Given the description of an element on the screen output the (x, y) to click on. 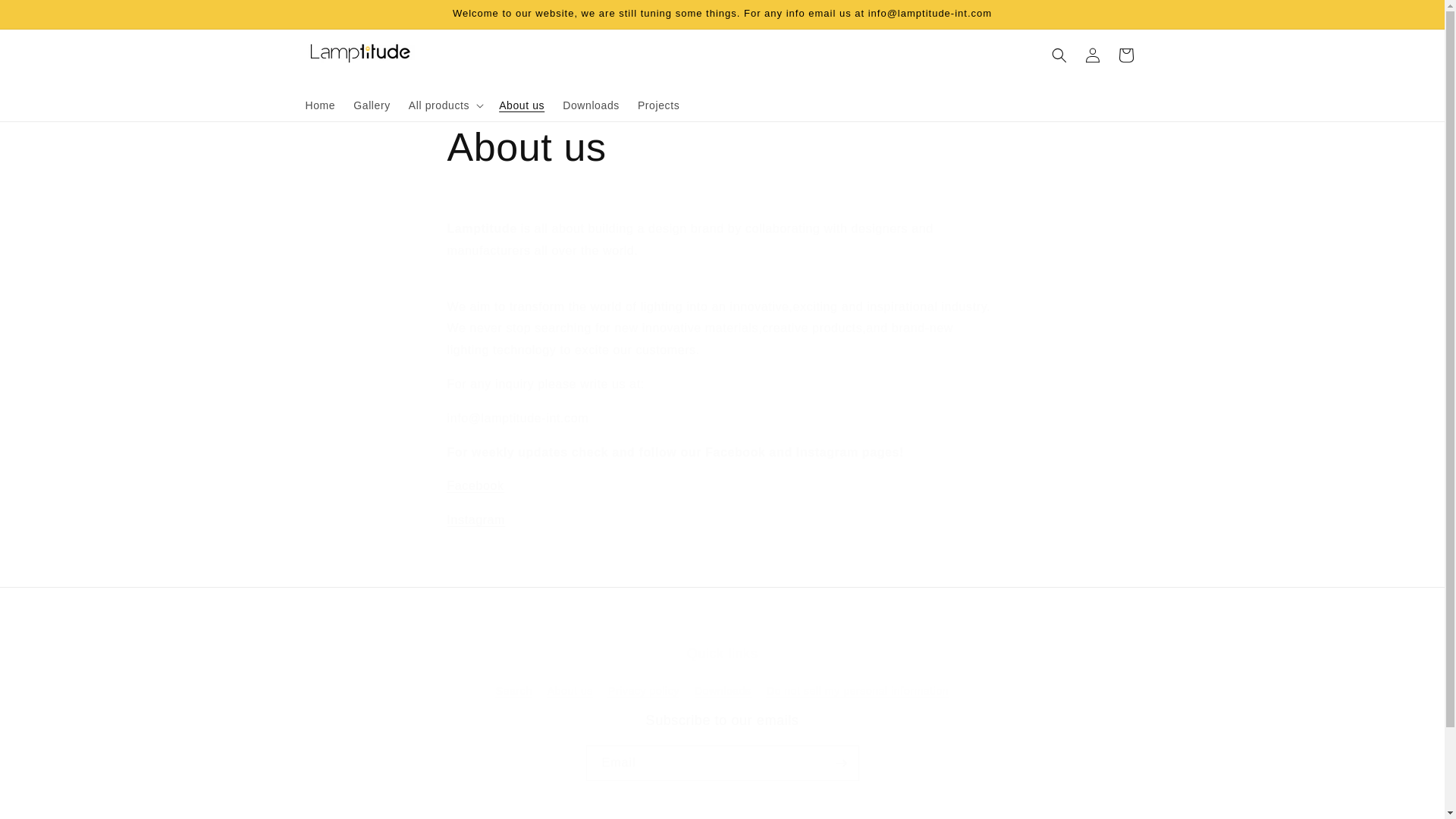
Search (514, 692)
Lamptitude international facebook page (474, 485)
About us (721, 147)
Skip to content (45, 17)
Gallery (370, 105)
Projects (658, 105)
Log in (1091, 55)
Downloads (590, 105)
Instagram (475, 519)
